Given the description of an element on the screen output the (x, y) to click on. 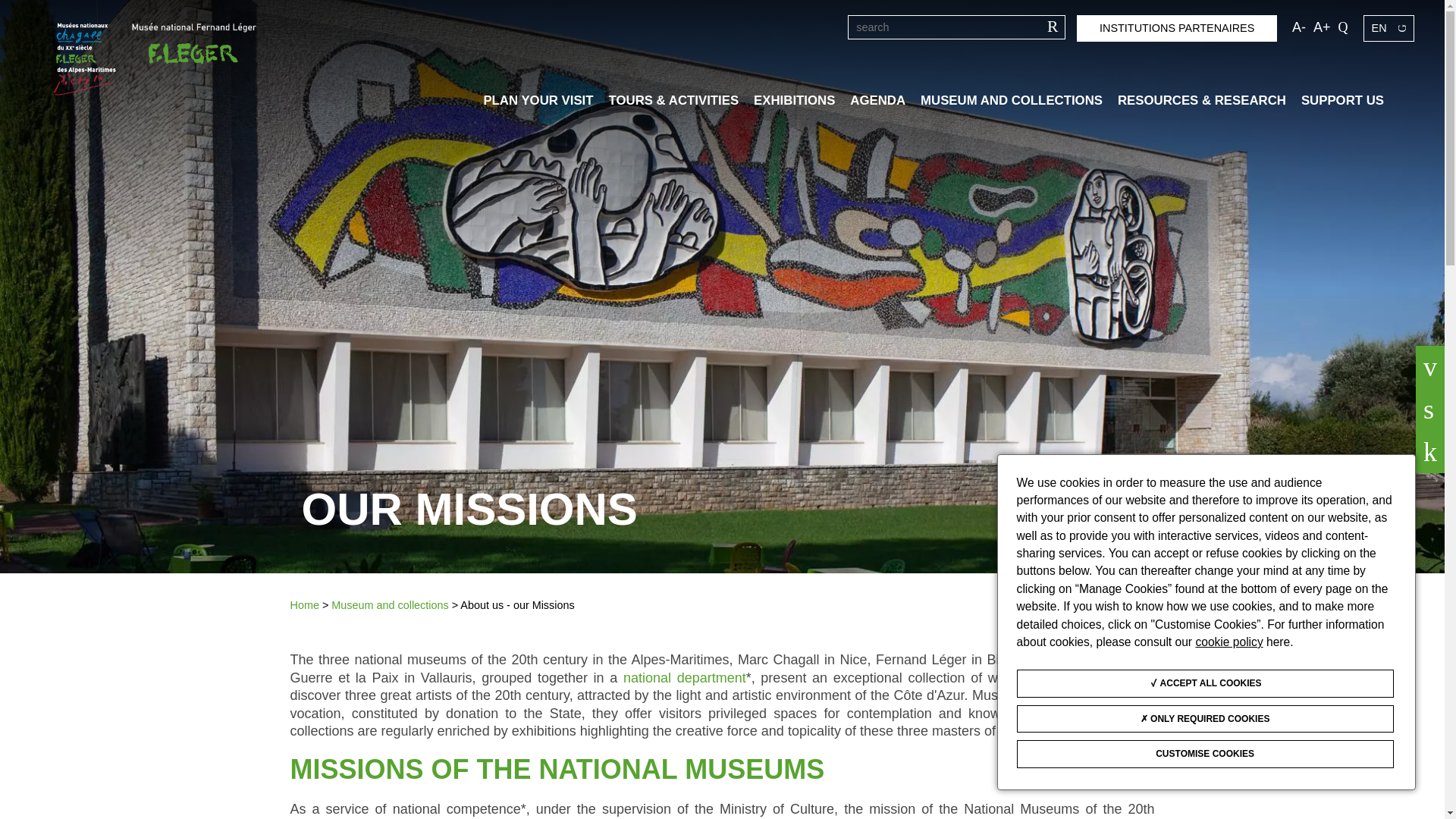
AGENDA (877, 100)
INSTITUTIONS PARTENAIRES (1176, 28)
PLAN YOUR VISIT (537, 100)
A- (1299, 27)
Ok (1050, 27)
Expositions et publications (794, 100)
MUSEUM AND COLLECTIONS (1011, 100)
EXHIBITIONS (794, 100)
